Given the description of an element on the screen output the (x, y) to click on. 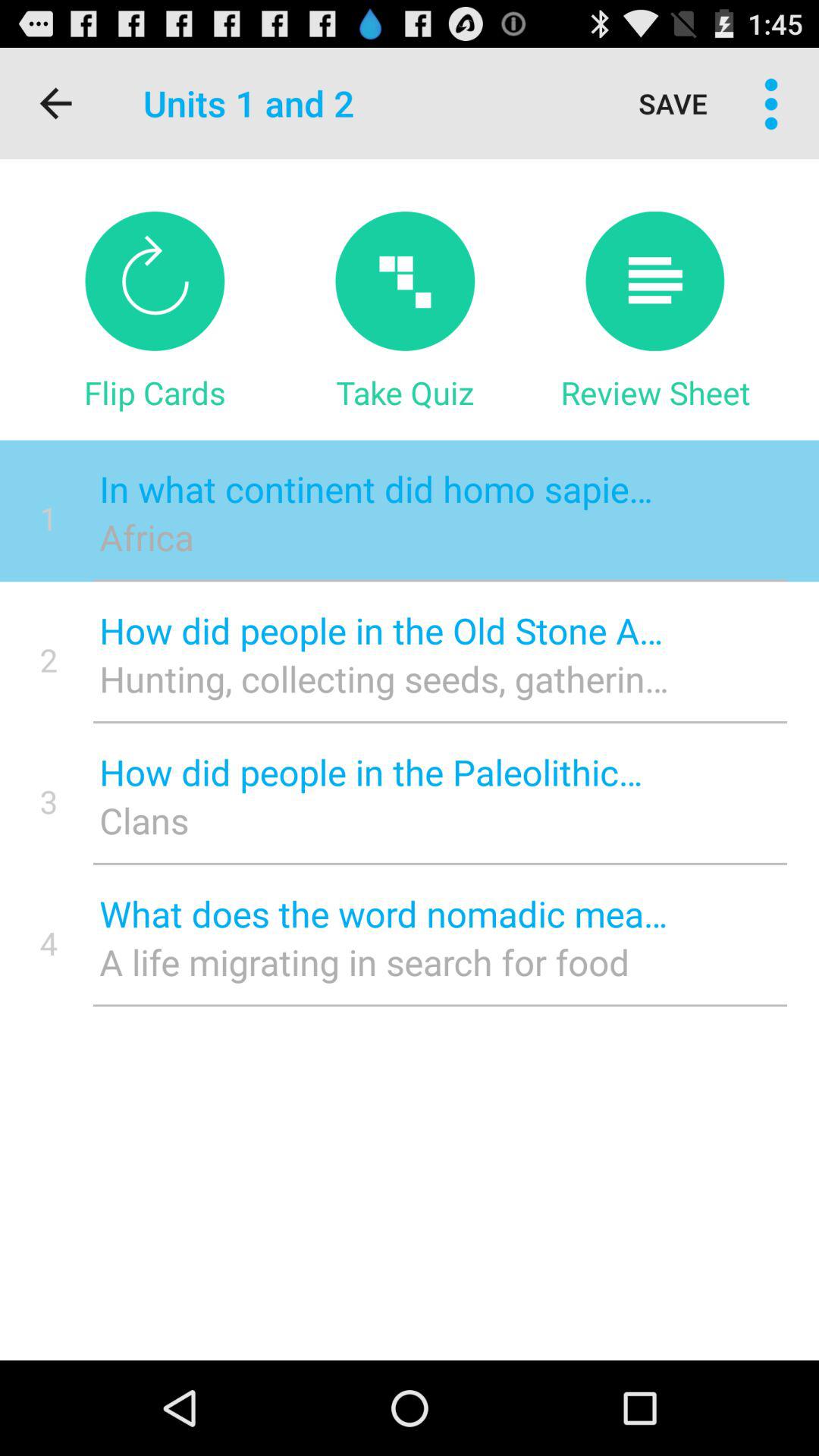
choose the item to the right of flip cards item (405, 392)
